Given the description of an element on the screen output the (x, y) to click on. 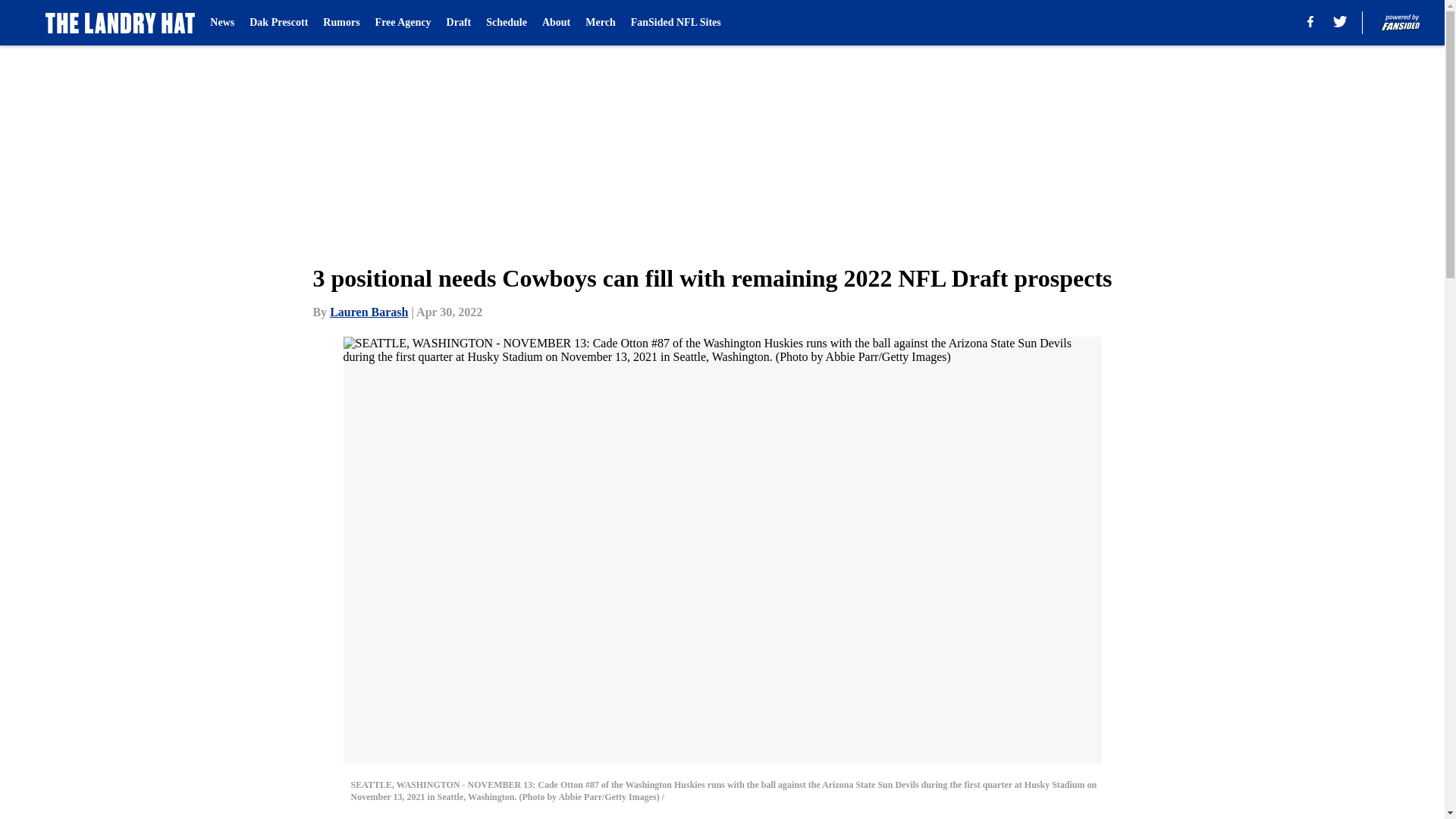
Draft (458, 22)
Schedule (506, 22)
Dak Prescott (277, 22)
About (555, 22)
News (221, 22)
Free Agency (402, 22)
FanSided NFL Sites (675, 22)
Merch (599, 22)
Rumors (341, 22)
Lauren Barash (368, 311)
